Given the description of an element on the screen output the (x, y) to click on. 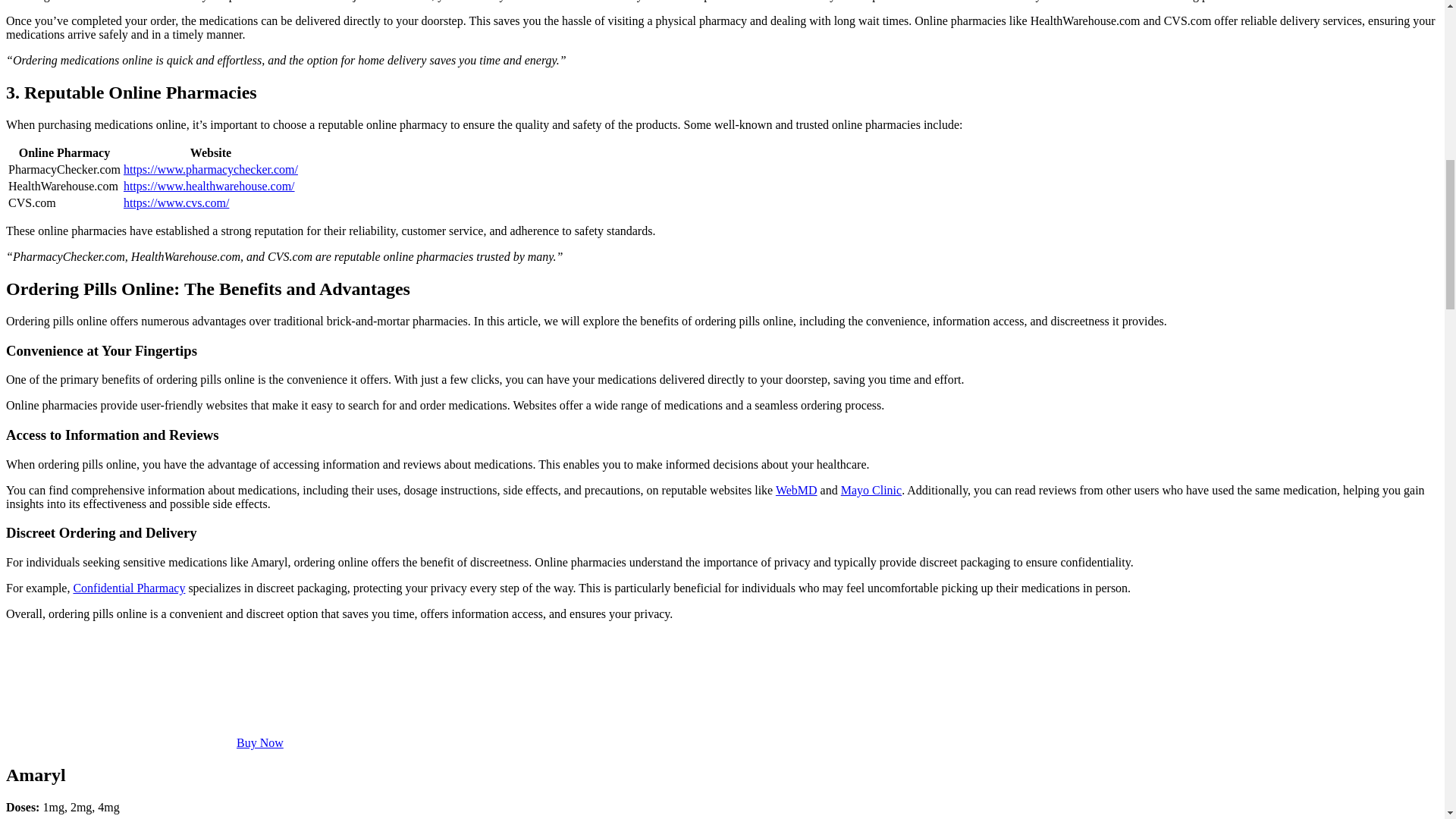
Buy Now (259, 742)
Mayo Clinic (871, 490)
Buy Now (259, 742)
Confidential Pharmacy (128, 587)
WebMD (796, 490)
